Given the description of an element on the screen output the (x, y) to click on. 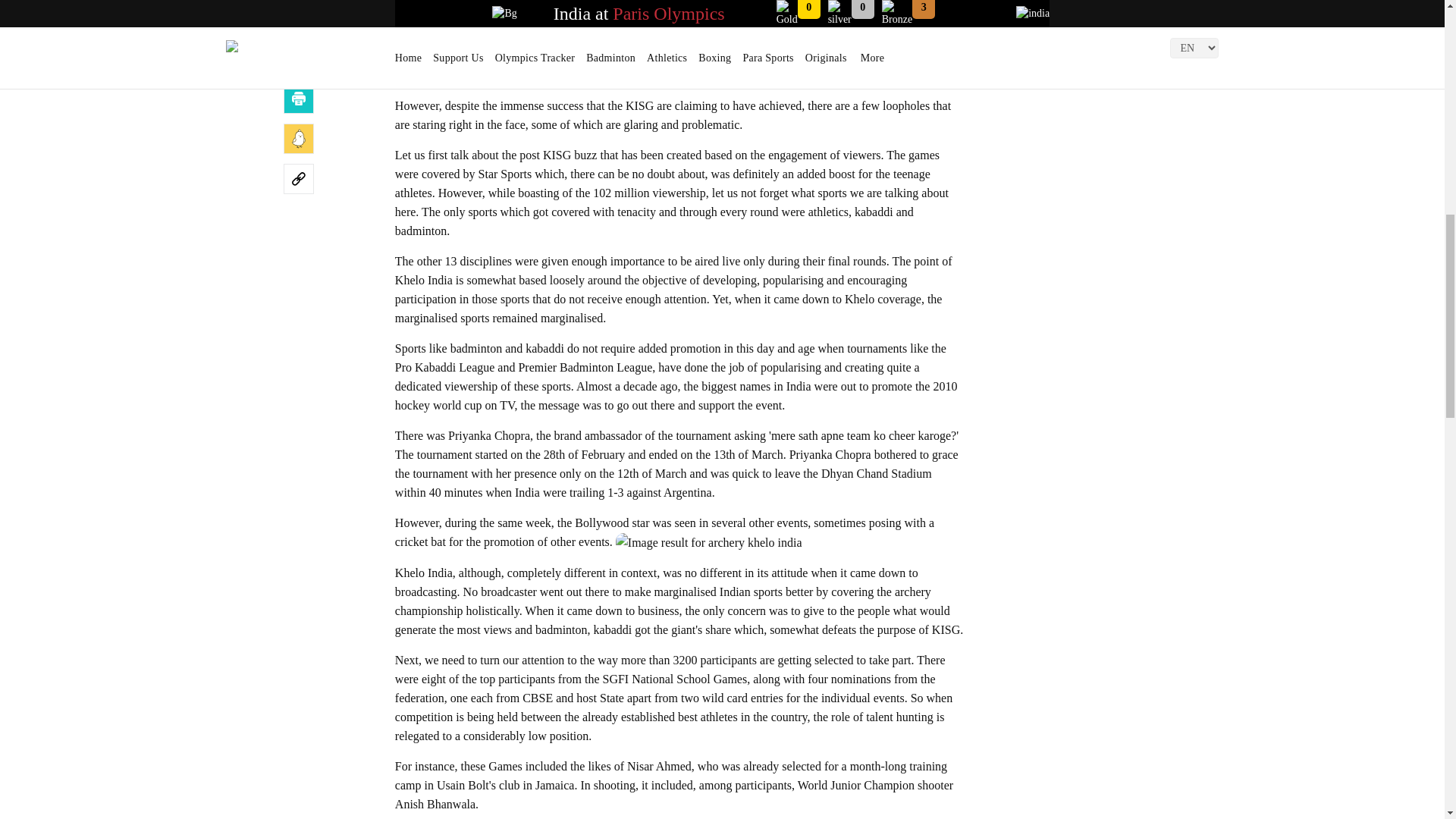
LinkedIn (298, 18)
Share by Email (298, 58)
